Given the description of an element on the screen output the (x, y) to click on. 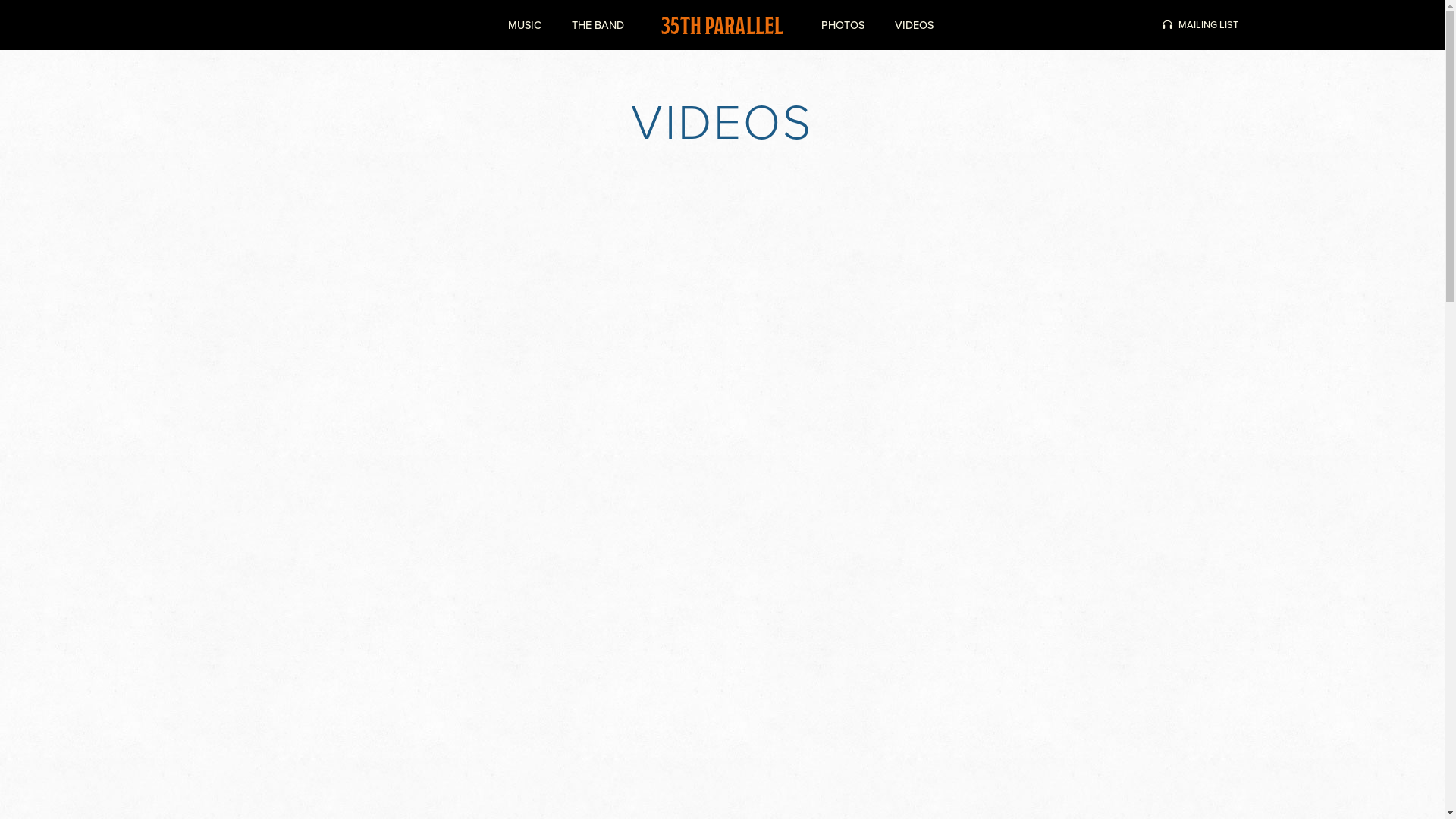
MAILING LIST Element type: text (1199, 25)
VIDEOS Element type: text (913, 25)
MUSIC Element type: text (524, 25)
THE BAND Element type: text (597, 25)
35th Parallel & Naseem Alatrash - Oyun Havasi Element type: hover (1023, 352)
PHOTOS Element type: text (841, 25)
35TH PARALLEL Element type: text (722, 25)
35th Parallel & Naseem Alatrash - The Green Vine Element type: hover (420, 352)
